Given the description of an element on the screen output the (x, y) to click on. 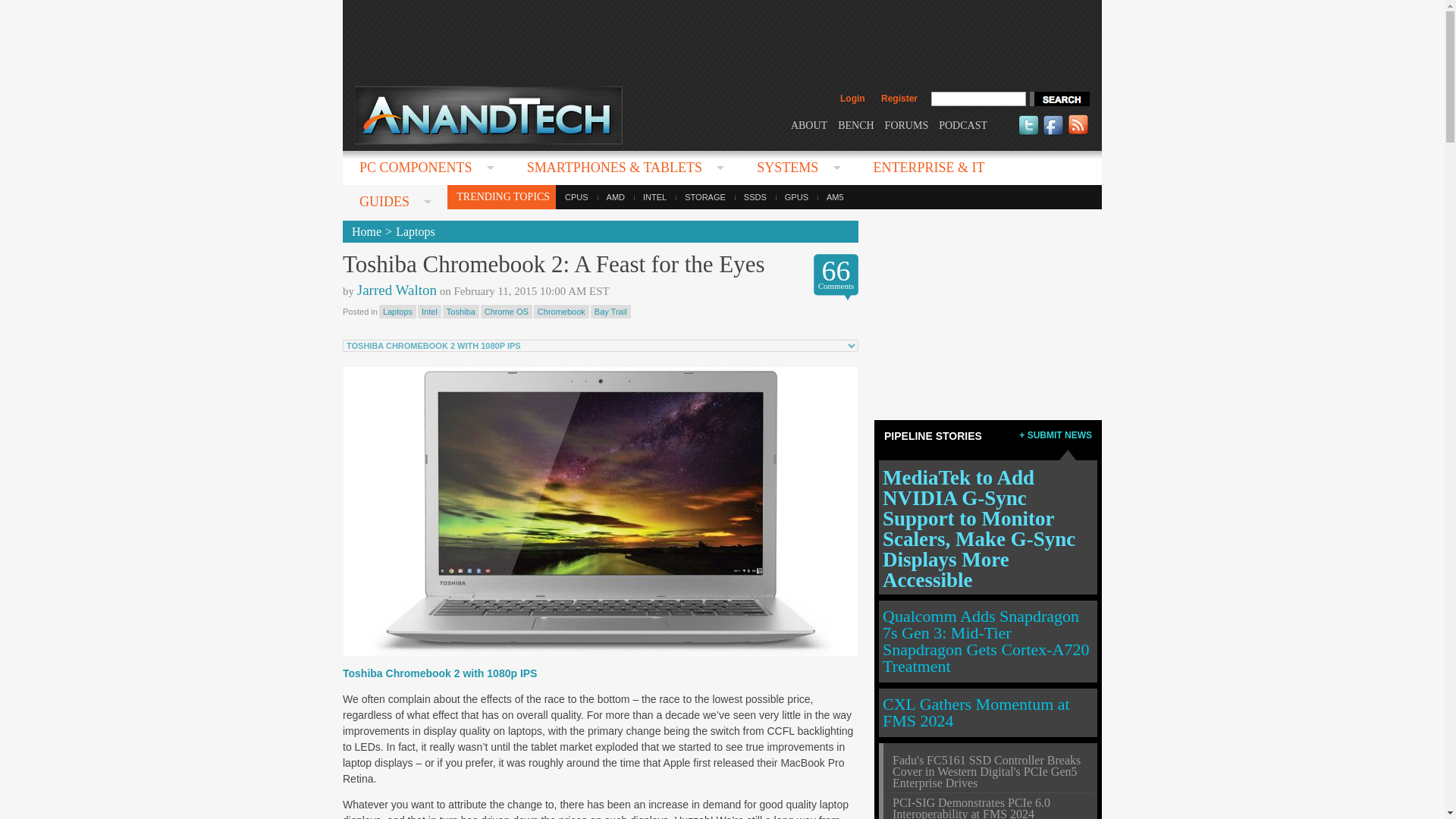
PODCAST (963, 125)
search (1059, 98)
ABOUT (808, 125)
Register (898, 98)
search (1059, 98)
search (1059, 98)
FORUMS (906, 125)
BENCH (855, 125)
Login (852, 98)
